Given the description of an element on the screen output the (x, y) to click on. 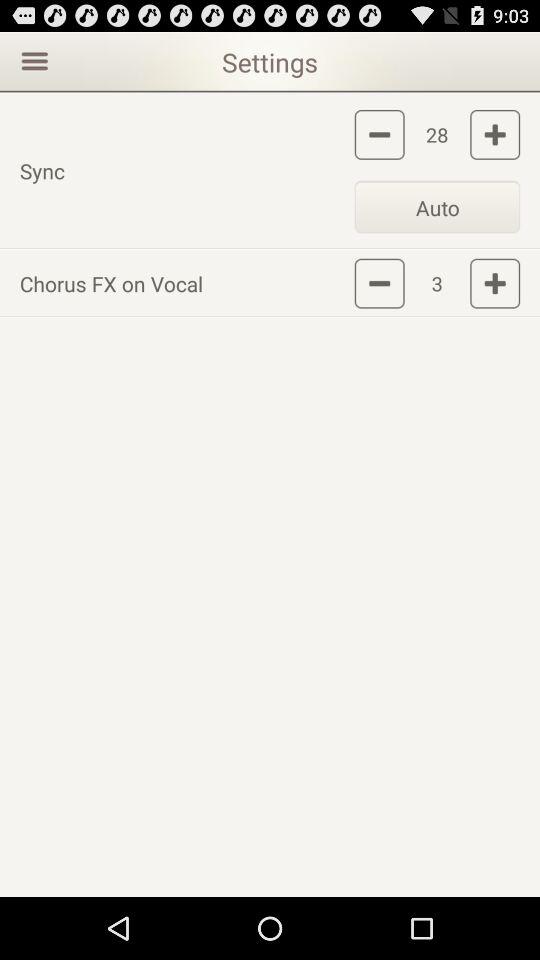
add a value (495, 283)
